Given the description of an element on the screen output the (x, y) to click on. 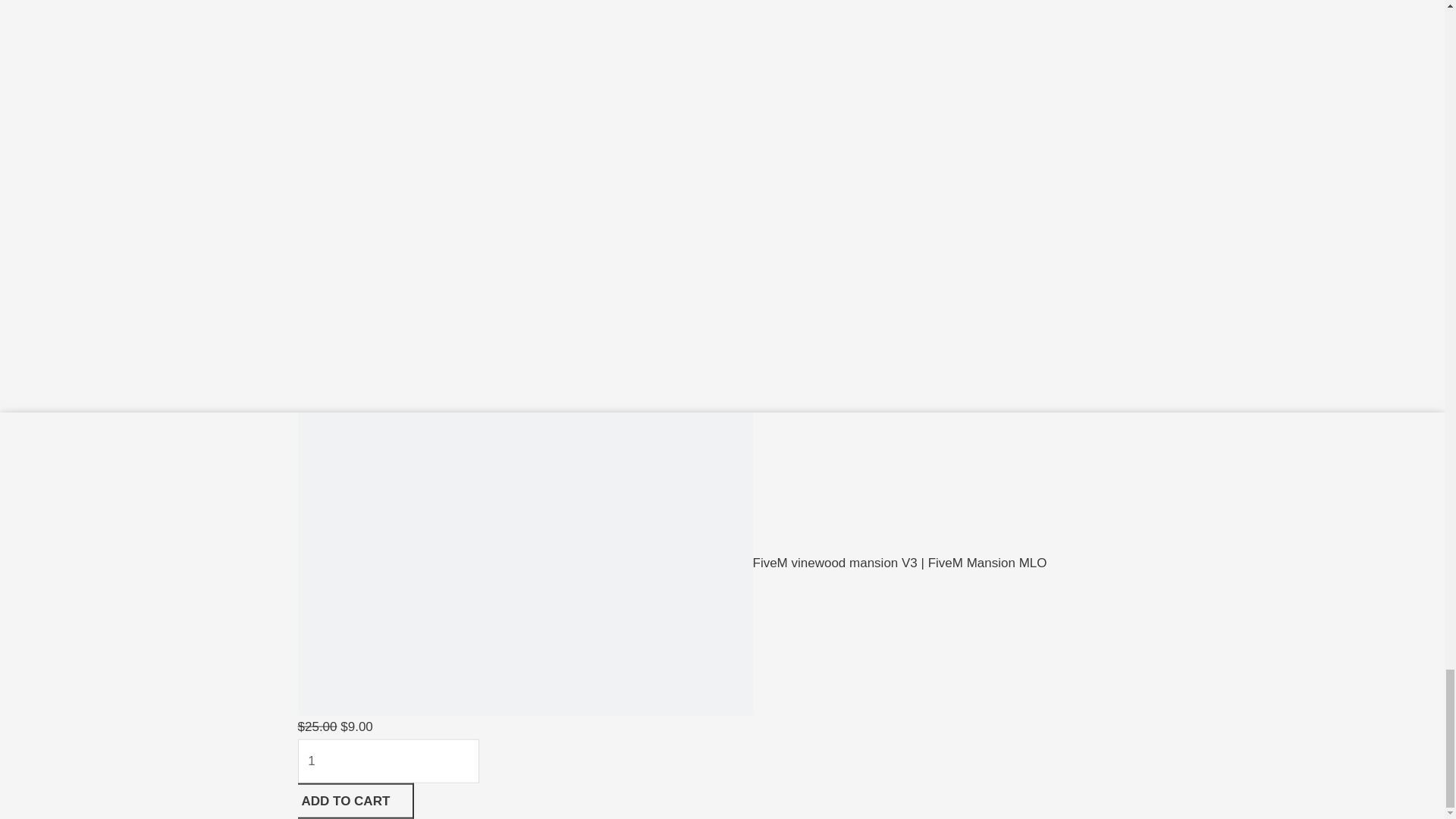
1 (388, 760)
